Given the description of an element on the screen output the (x, y) to click on. 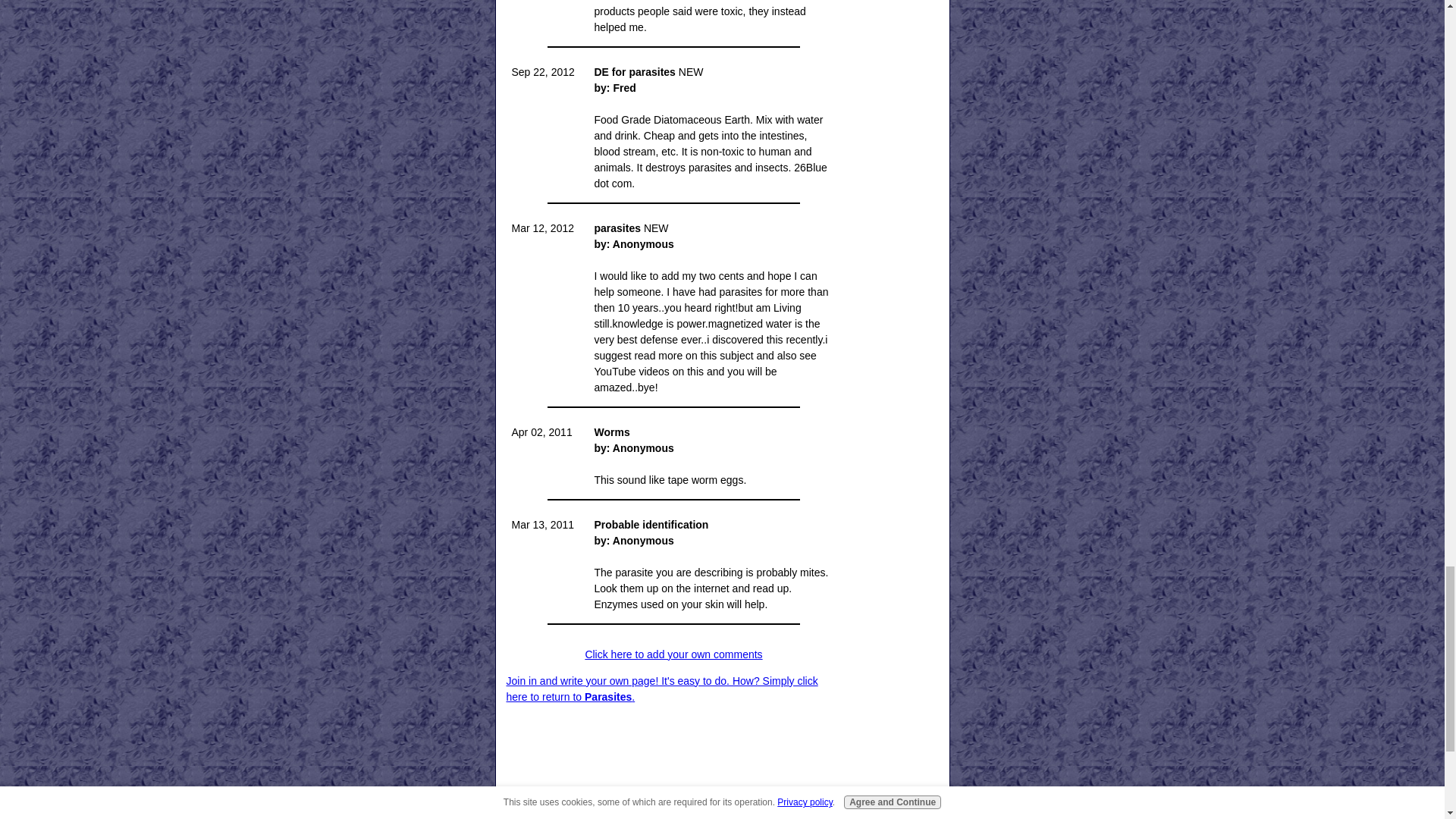
Click here to add your own comments (673, 653)
